Given the description of an element on the screen output the (x, y) to click on. 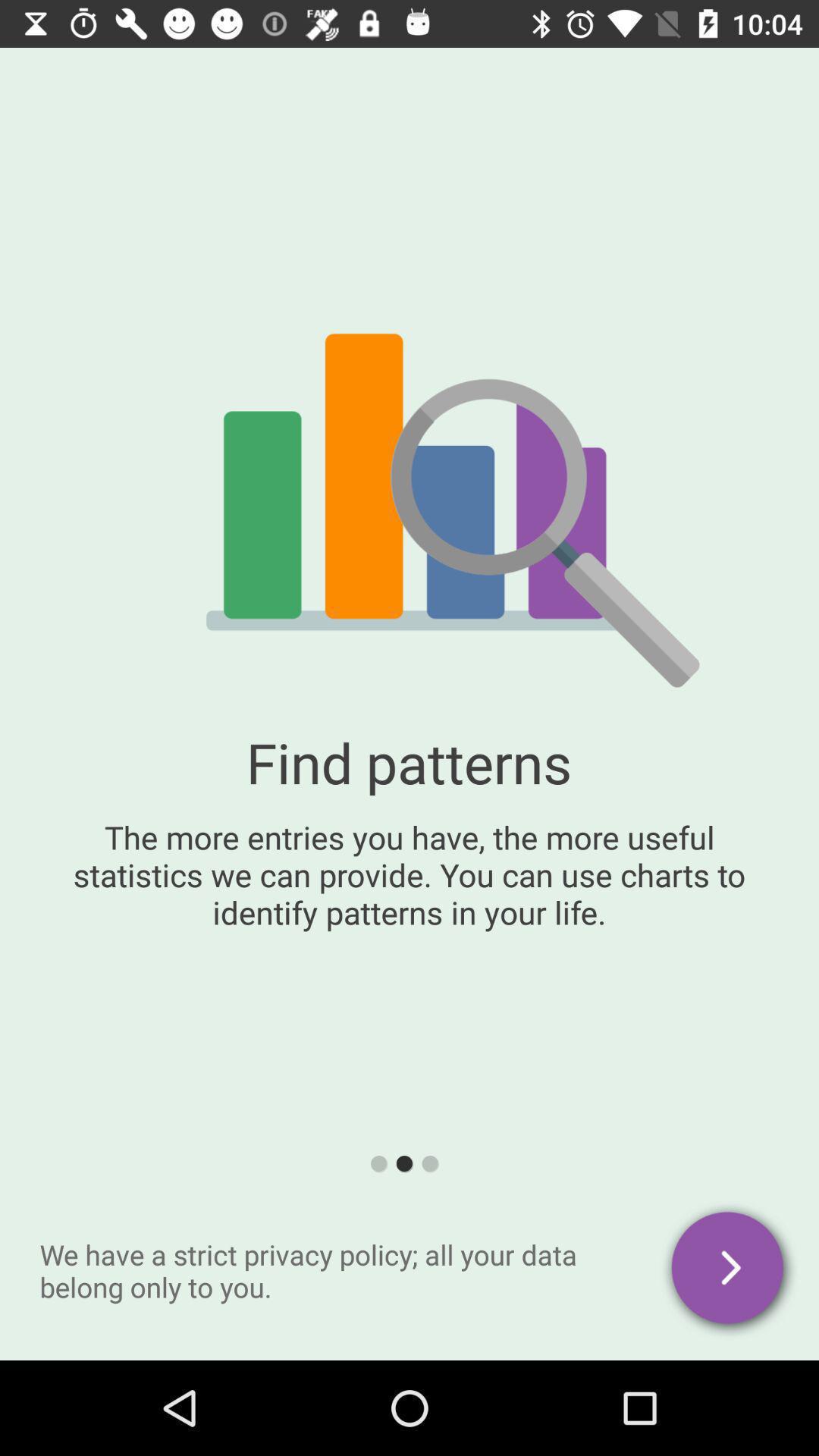
click icon next to the we have a (729, 1270)
